Given the description of an element on the screen output the (x, y) to click on. 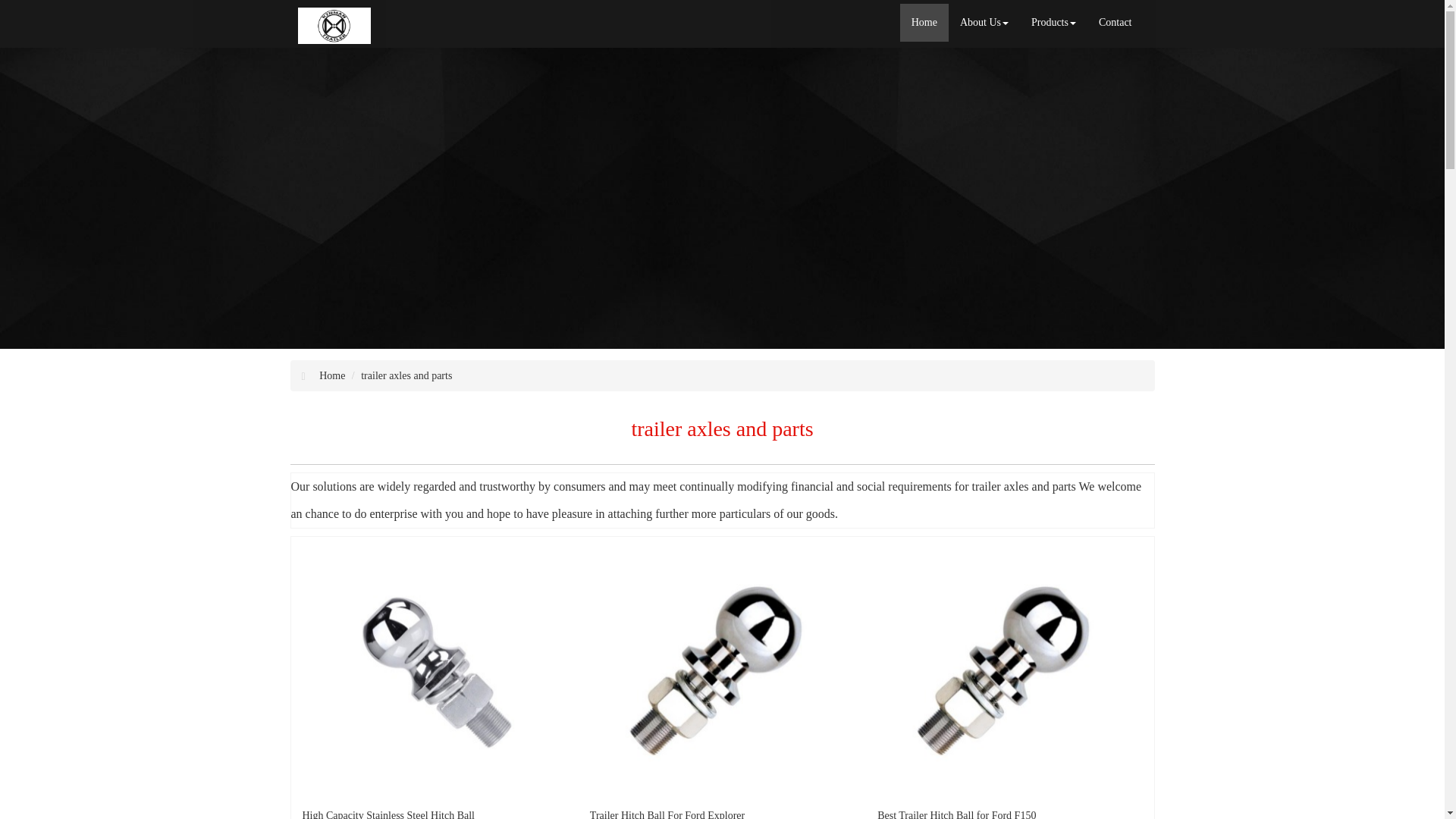
Home (924, 22)
trailer axles and parts (406, 375)
Contact (1114, 22)
Home (331, 375)
trailer axles and parts (1023, 486)
About Us (984, 22)
Products (1053, 22)
